Given the description of an element on the screen output the (x, y) to click on. 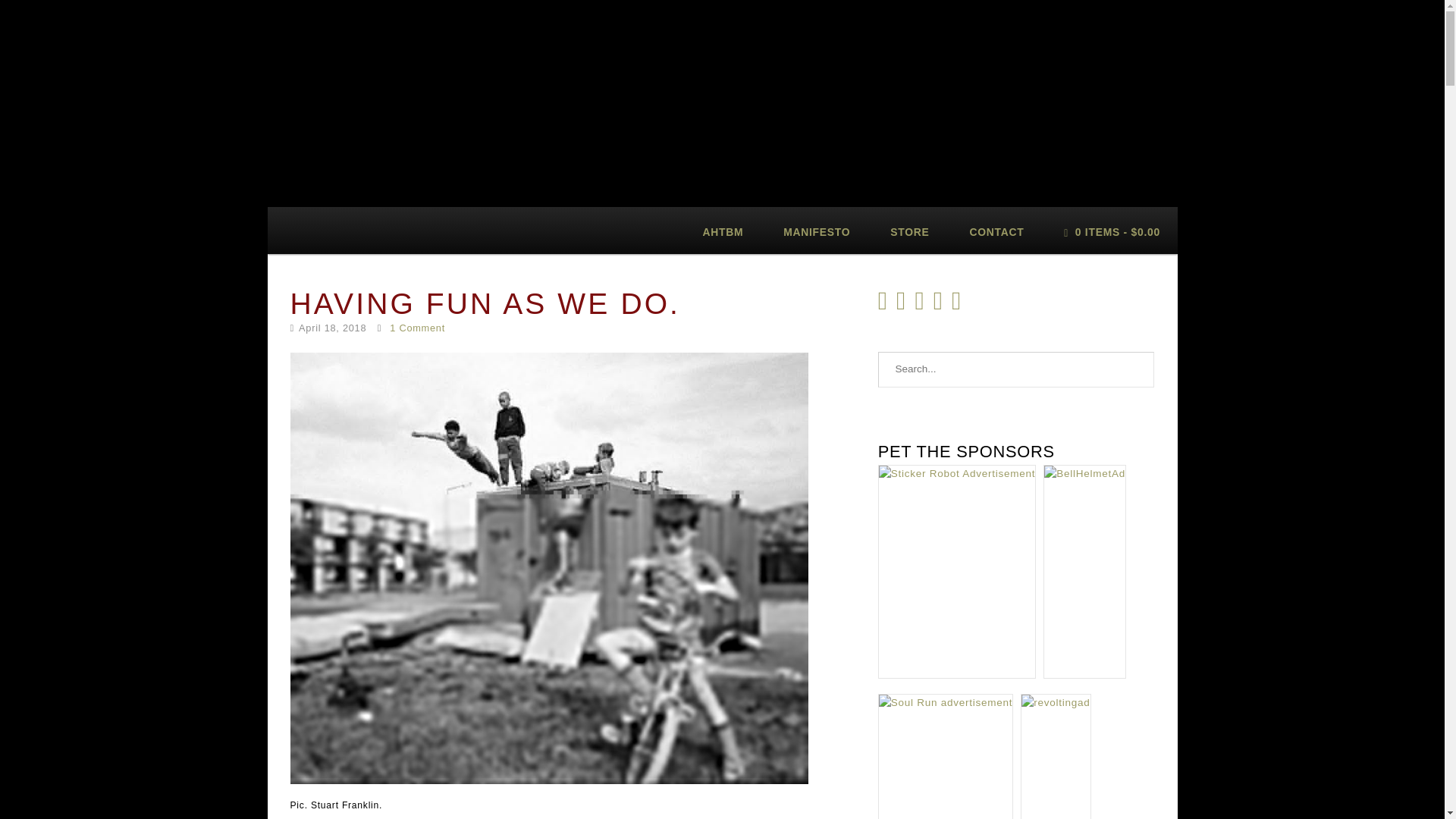
Facebook (941, 306)
1 Comment (417, 327)
STORE (909, 230)
Search (1136, 370)
Instagram (922, 306)
MANIFESTO (817, 230)
View your shopping cart (1111, 230)
Search (1136, 370)
AHTBM (722, 230)
